Given the description of an element on the screen output the (x, y) to click on. 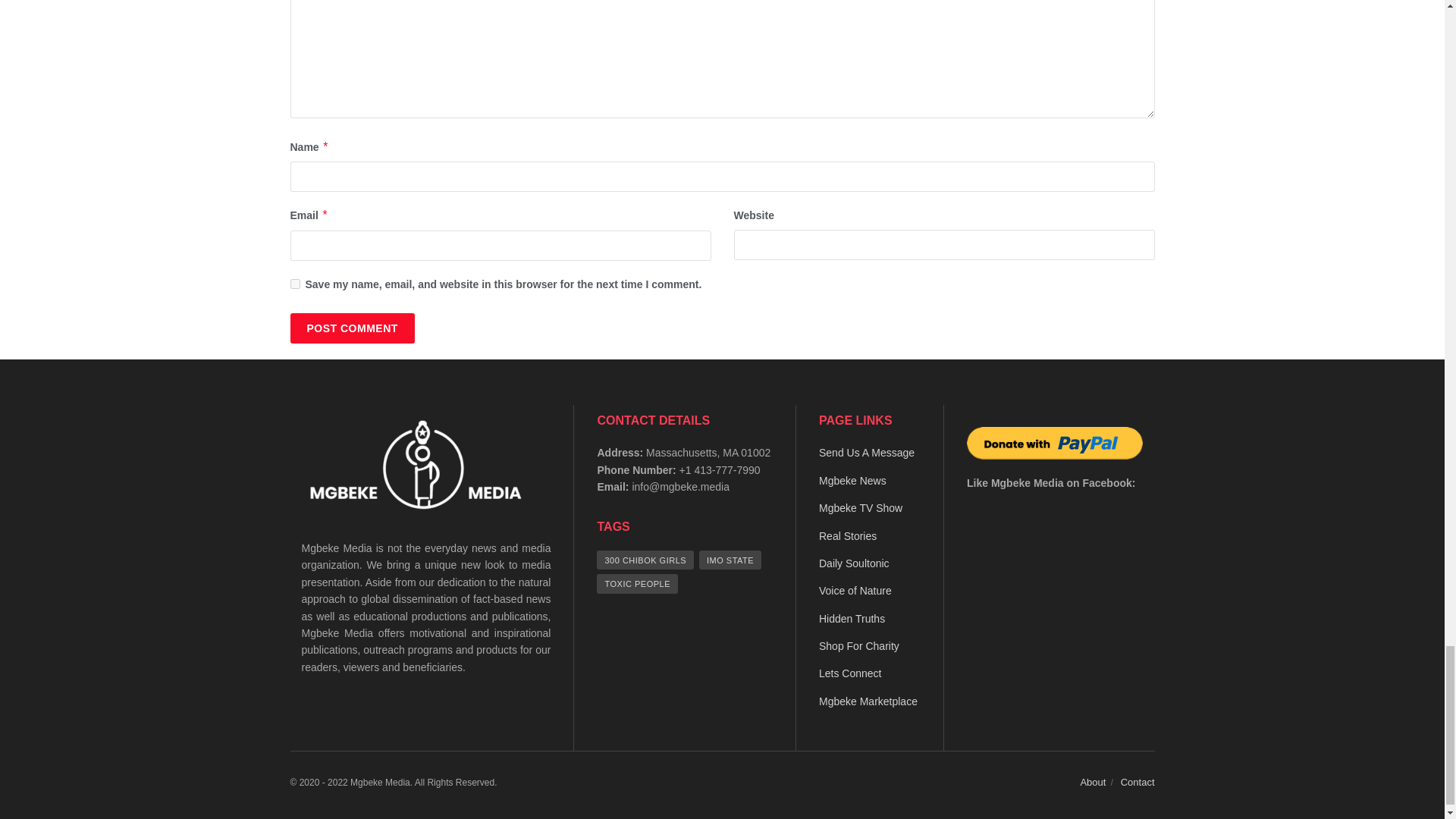
Post Comment (351, 327)
yes (294, 284)
